Given the description of an element on the screen output the (x, y) to click on. 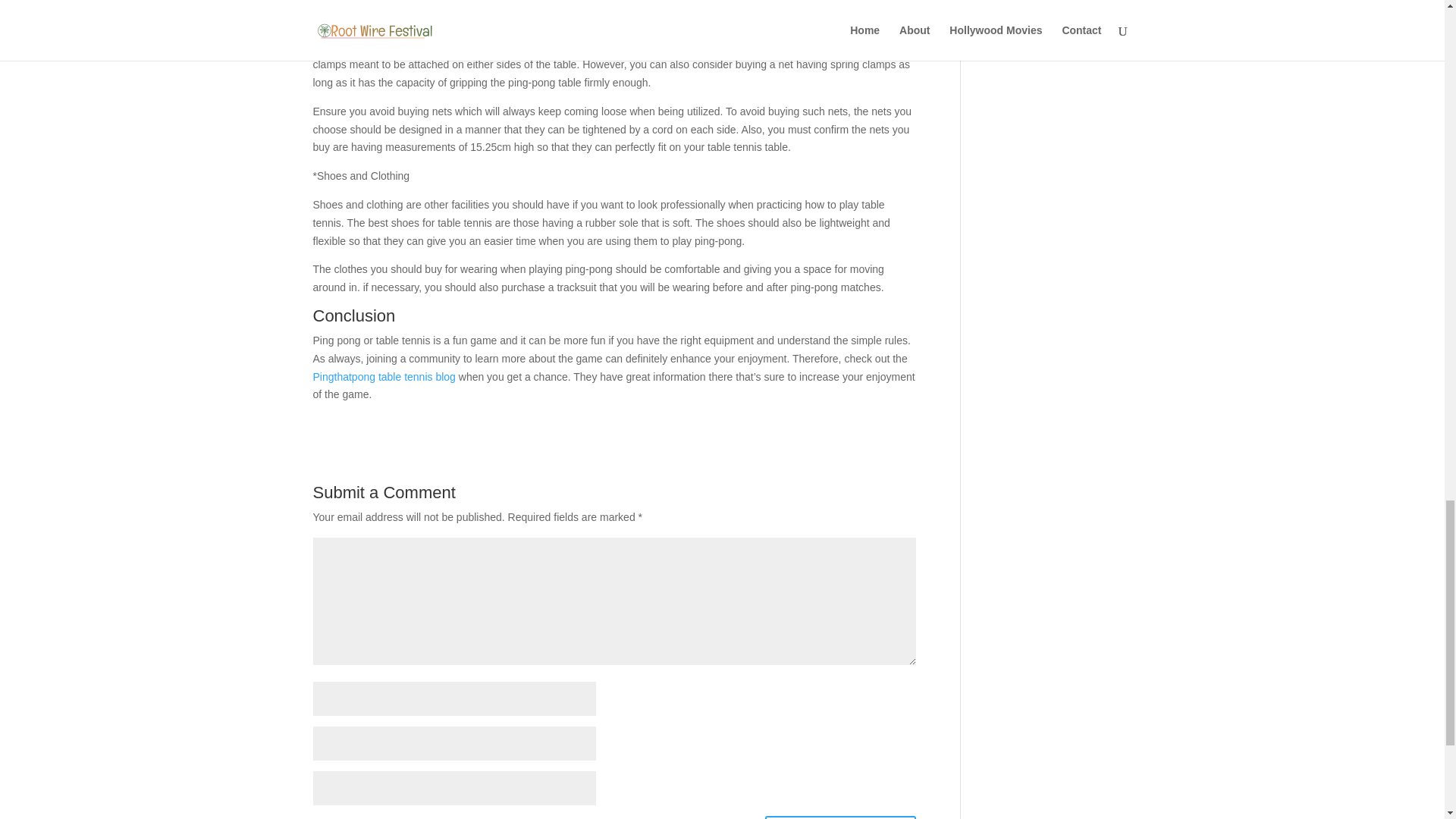
Pingthatpong table tennis blog (383, 377)
Submit Comment (840, 817)
Submit Comment (840, 817)
